Given the description of an element on the screen output the (x, y) to click on. 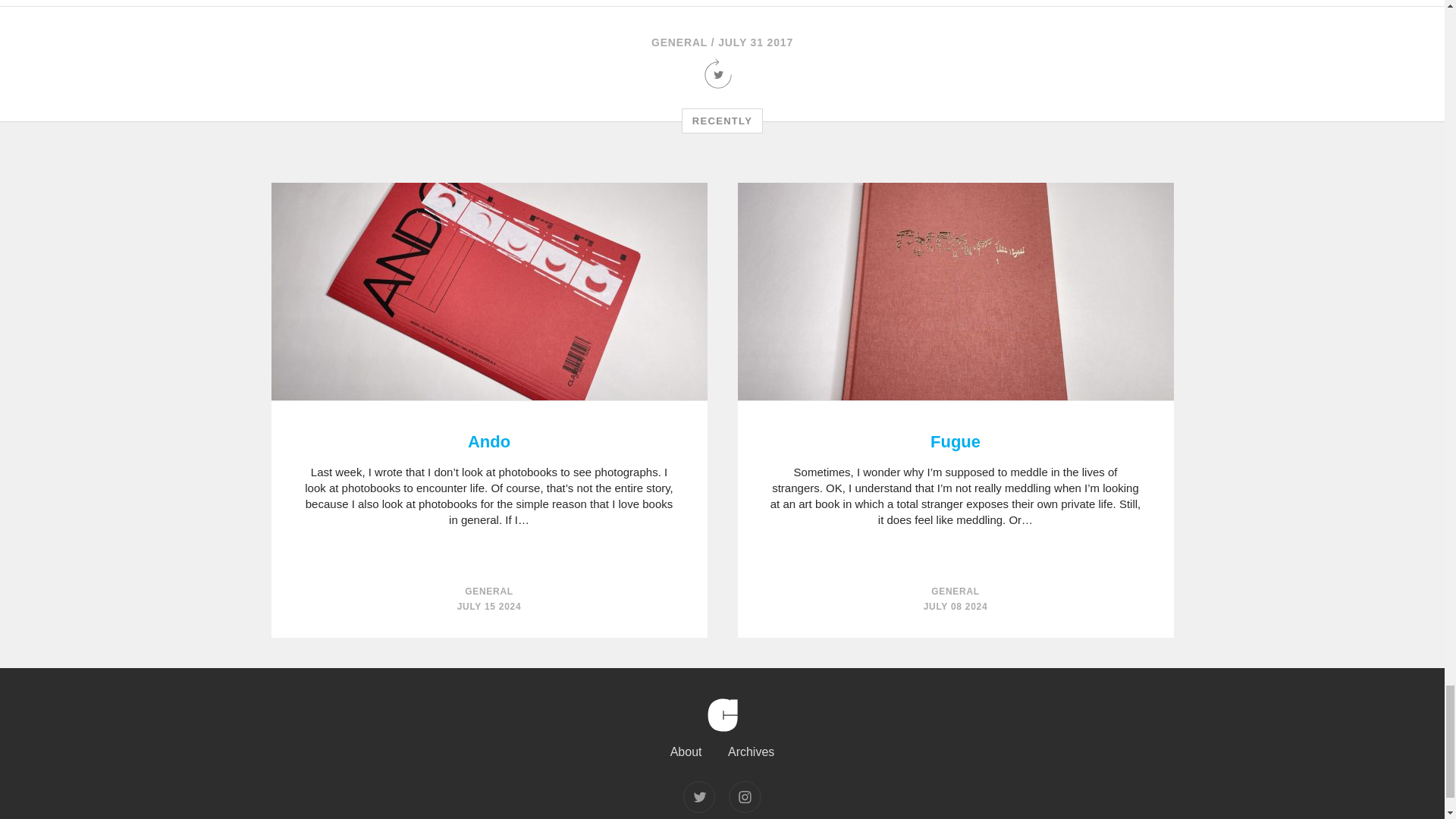
RECENTLY (722, 120)
Ando (488, 441)
Share this Article on Twitter (722, 83)
Back to Home (721, 738)
Fugue (954, 441)
